Given the description of an element on the screen output the (x, y) to click on. 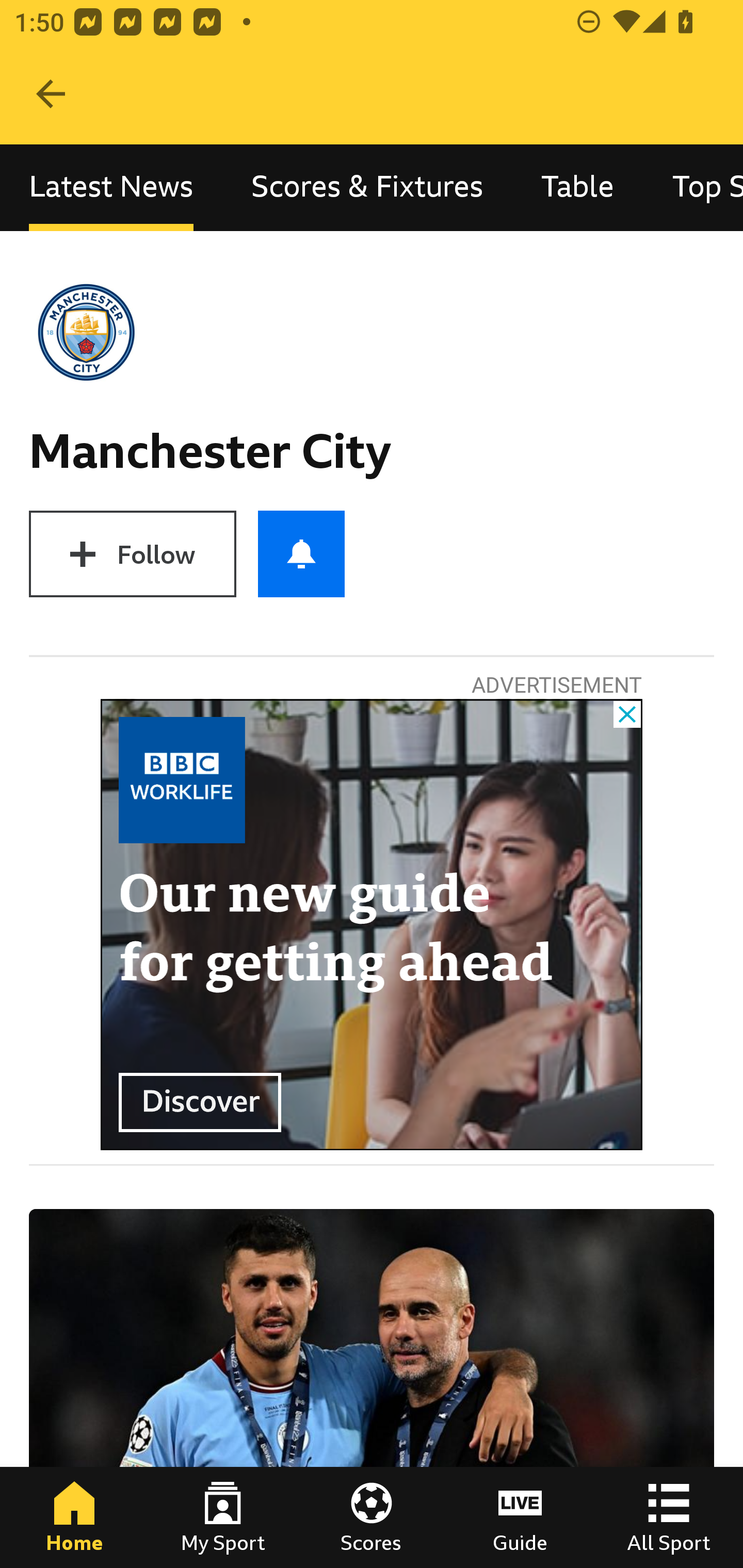
Navigate up (50, 93)
Latest News, selected Latest News (111, 187)
Scores & Fixtures (367, 187)
Table (577, 187)
Top Scorers (693, 187)
Follow Manchester City Follow (132, 554)
Push notifications for Manchester City (300, 554)
My Sport (222, 1517)
Scores (371, 1517)
Guide (519, 1517)
All Sport (668, 1517)
